Given the description of an element on the screen output the (x, y) to click on. 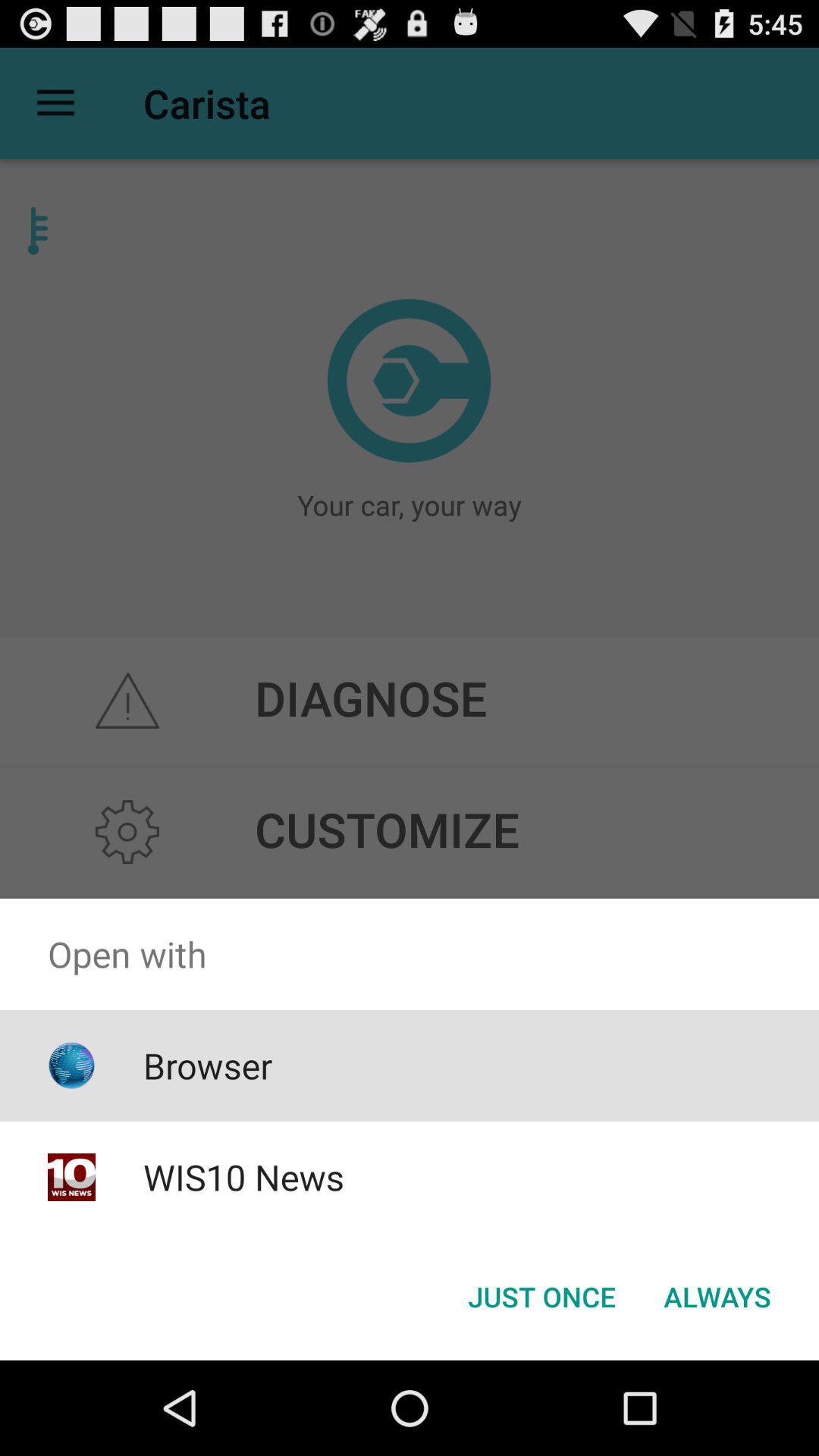
flip to the always icon (717, 1296)
